Given the description of an element on the screen output the (x, y) to click on. 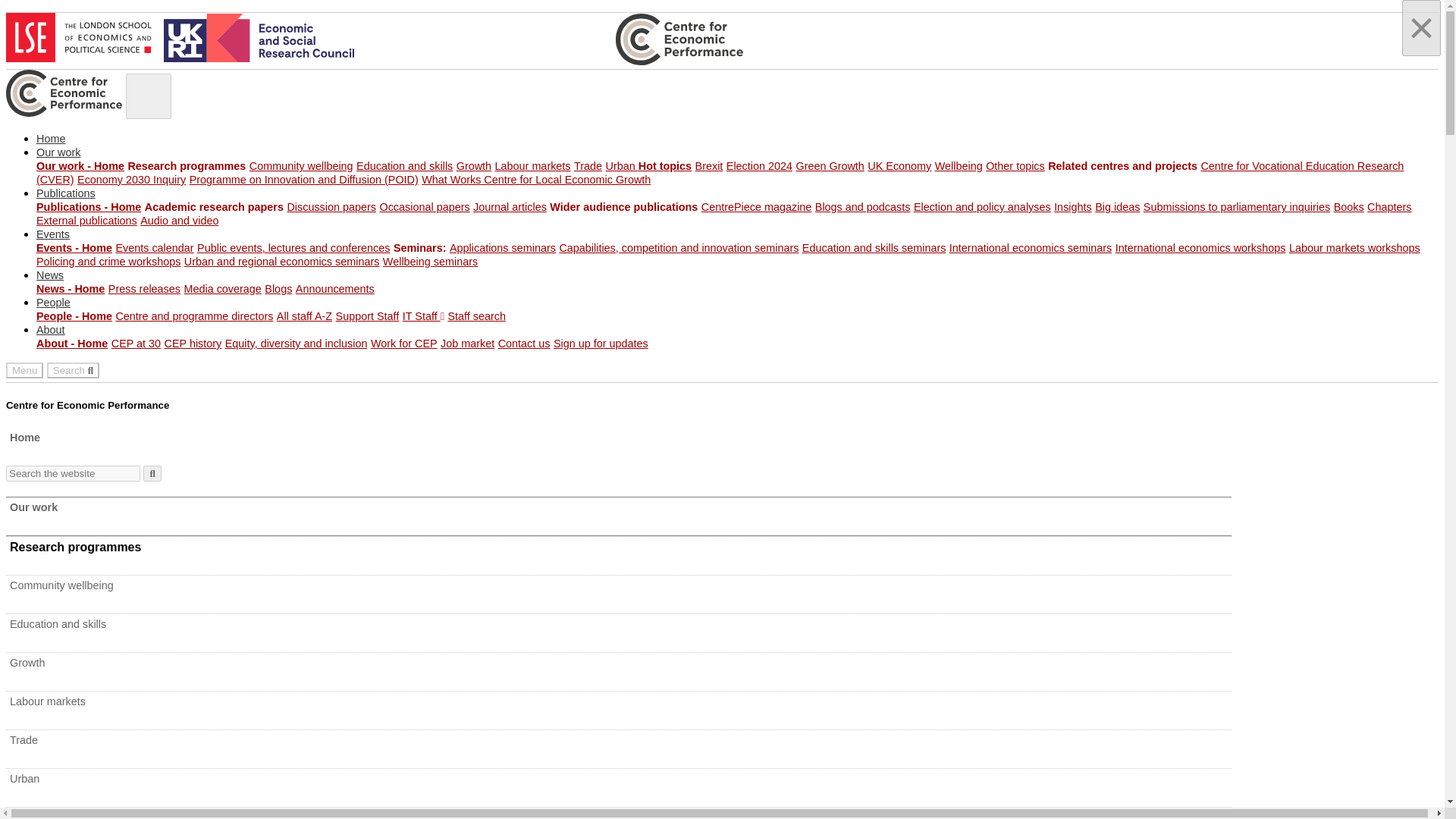
Publications (66, 193)
Publications - Home (88, 206)
Blogs and podcasts (863, 206)
Insights (1073, 206)
Trade (587, 165)
Urban (622, 165)
Other topics (1015, 165)
Discussion papers (330, 206)
Economy 2030 Inquiry (131, 179)
Wider audience publications (623, 206)
Our work (58, 152)
Related centres and projects (1122, 165)
Home (50, 138)
Our work - Home (79, 165)
